Given the description of an element on the screen output the (x, y) to click on. 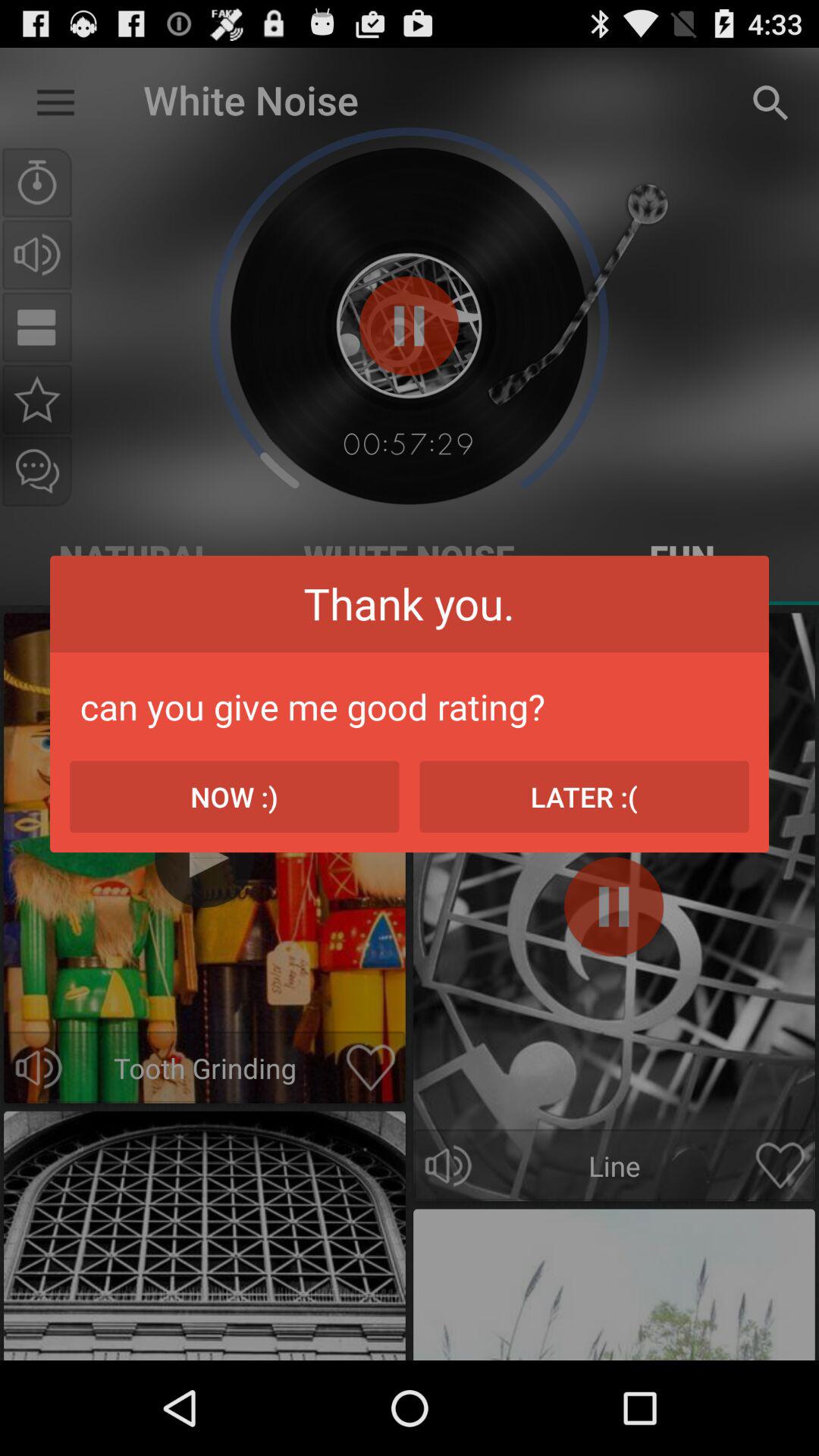
click the icon on the right (584, 796)
